Given the description of an element on the screen output the (x, y) to click on. 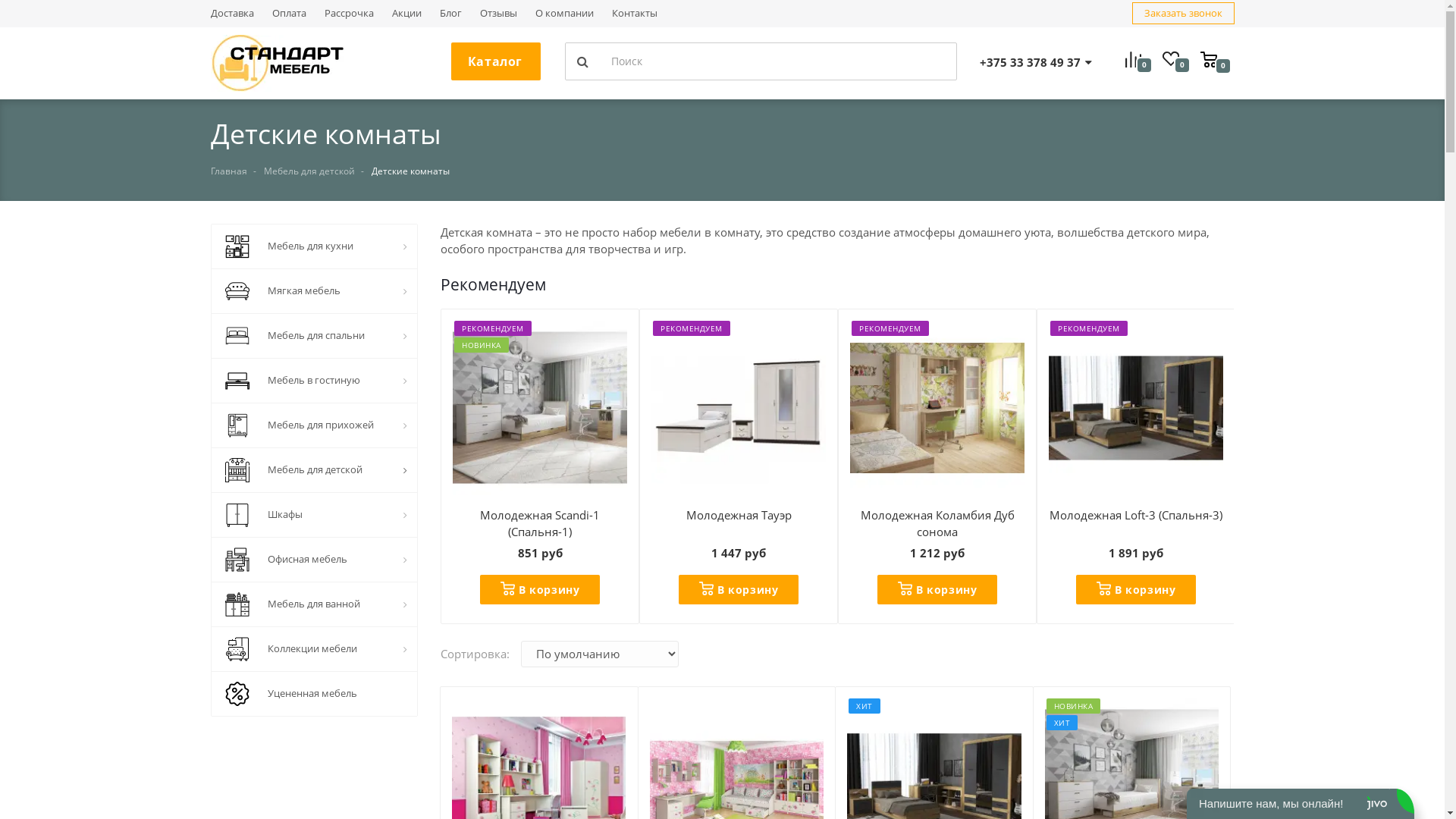
0 Element type: text (1214, 58)
0 Element type: text (1176, 61)
0 Element type: text (1138, 61)
